Given the description of an element on the screen output the (x, y) to click on. 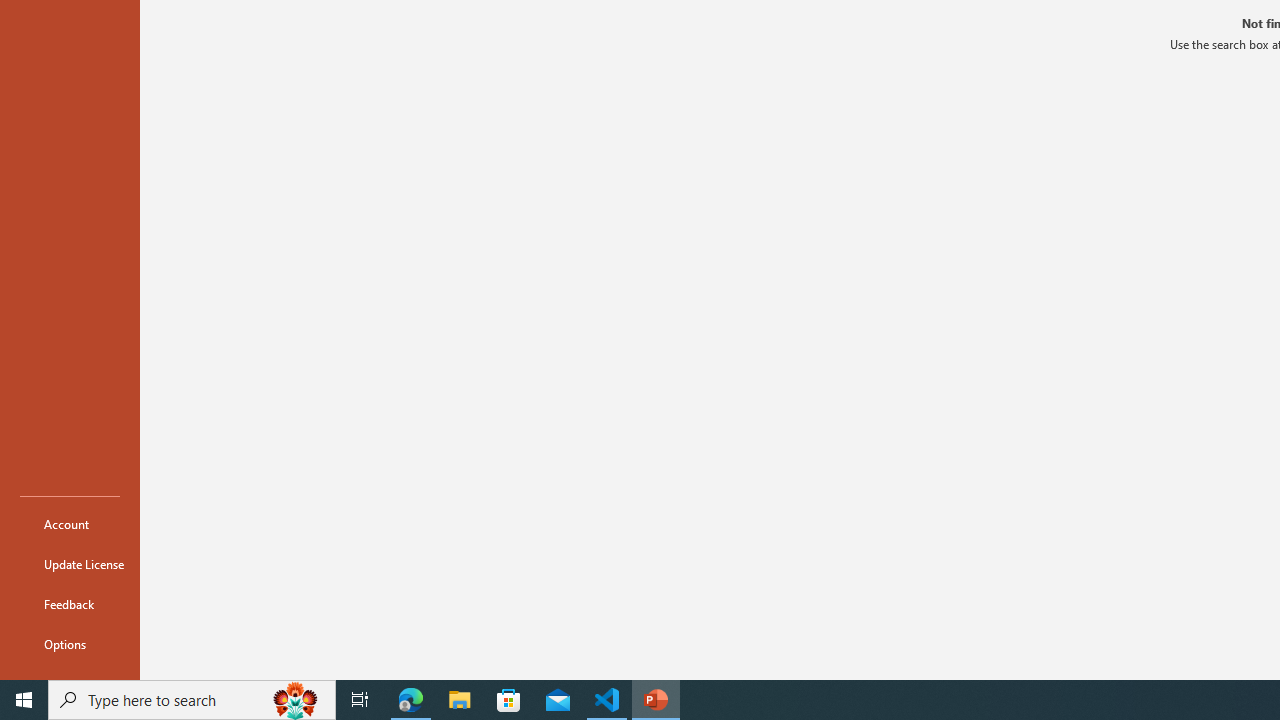
Feedback (69, 603)
Update License (69, 563)
Account (69, 523)
Options (69, 643)
